Given the description of an element on the screen output the (x, y) to click on. 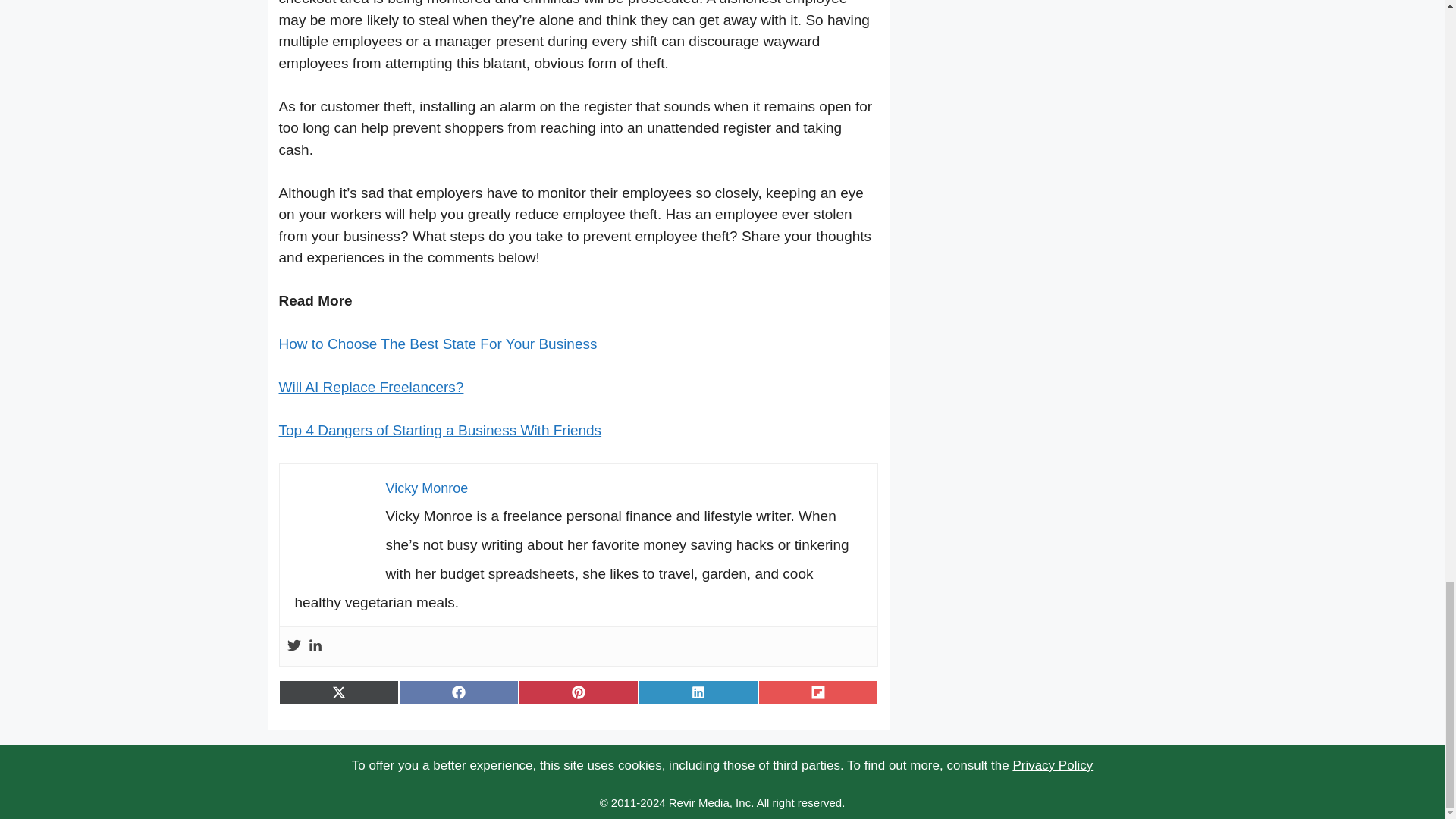
Will AI Replace Freelancers? (371, 386)
Top 4 Dangers of Starting a Business With Friends (440, 430)
Vicky Monroe (426, 488)
Linkedin (314, 646)
How to Choose The Best State For Your Business (437, 343)
Twitter (292, 646)
